Given the description of an element on the screen output the (x, y) to click on. 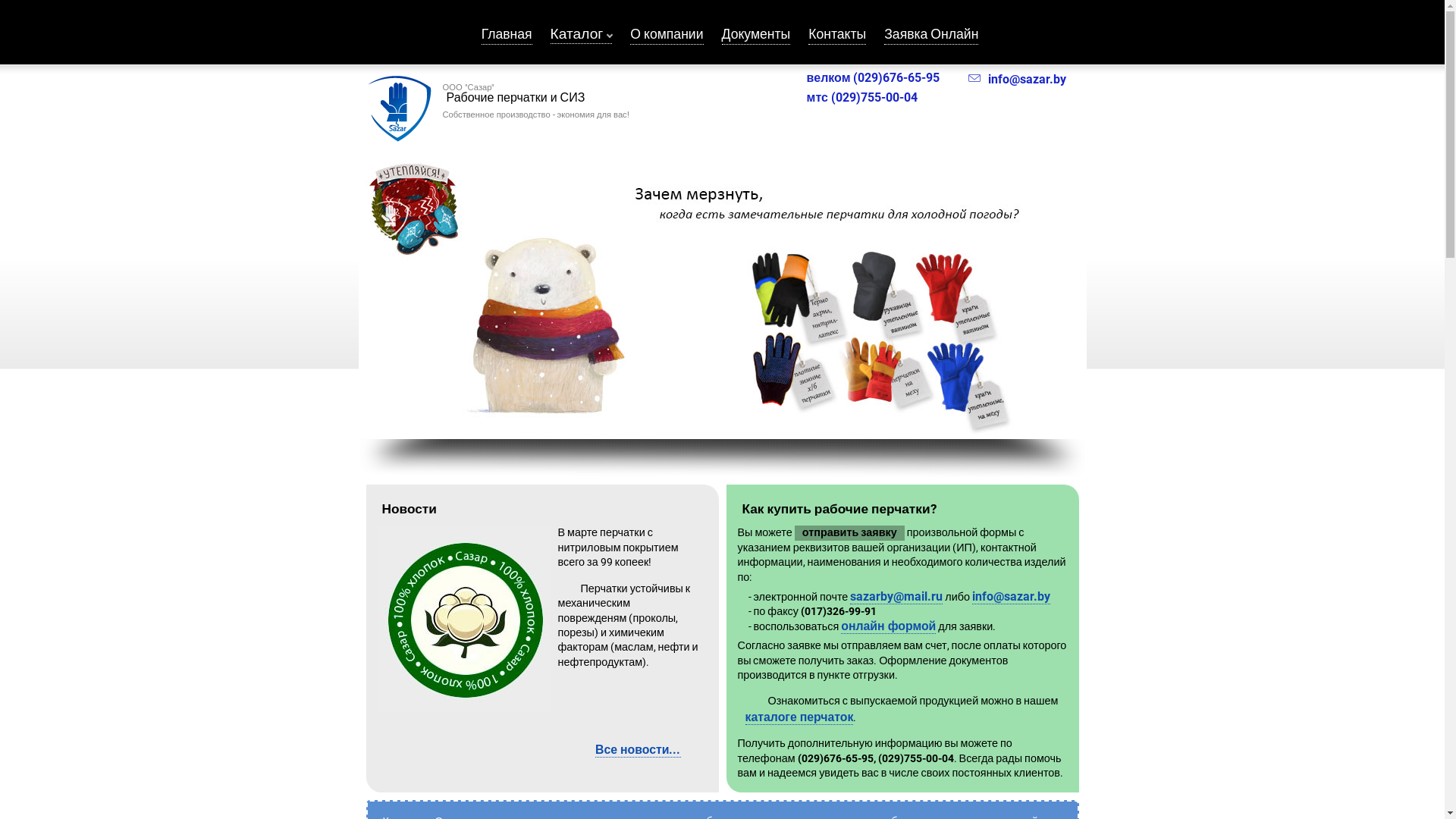
sazarby@mail.ru Element type: text (896, 596)
info@sazar.by Element type: text (1016, 78)
info@sazar.by Element type: text (1011, 596)
